Given the description of an element on the screen output the (x, y) to click on. 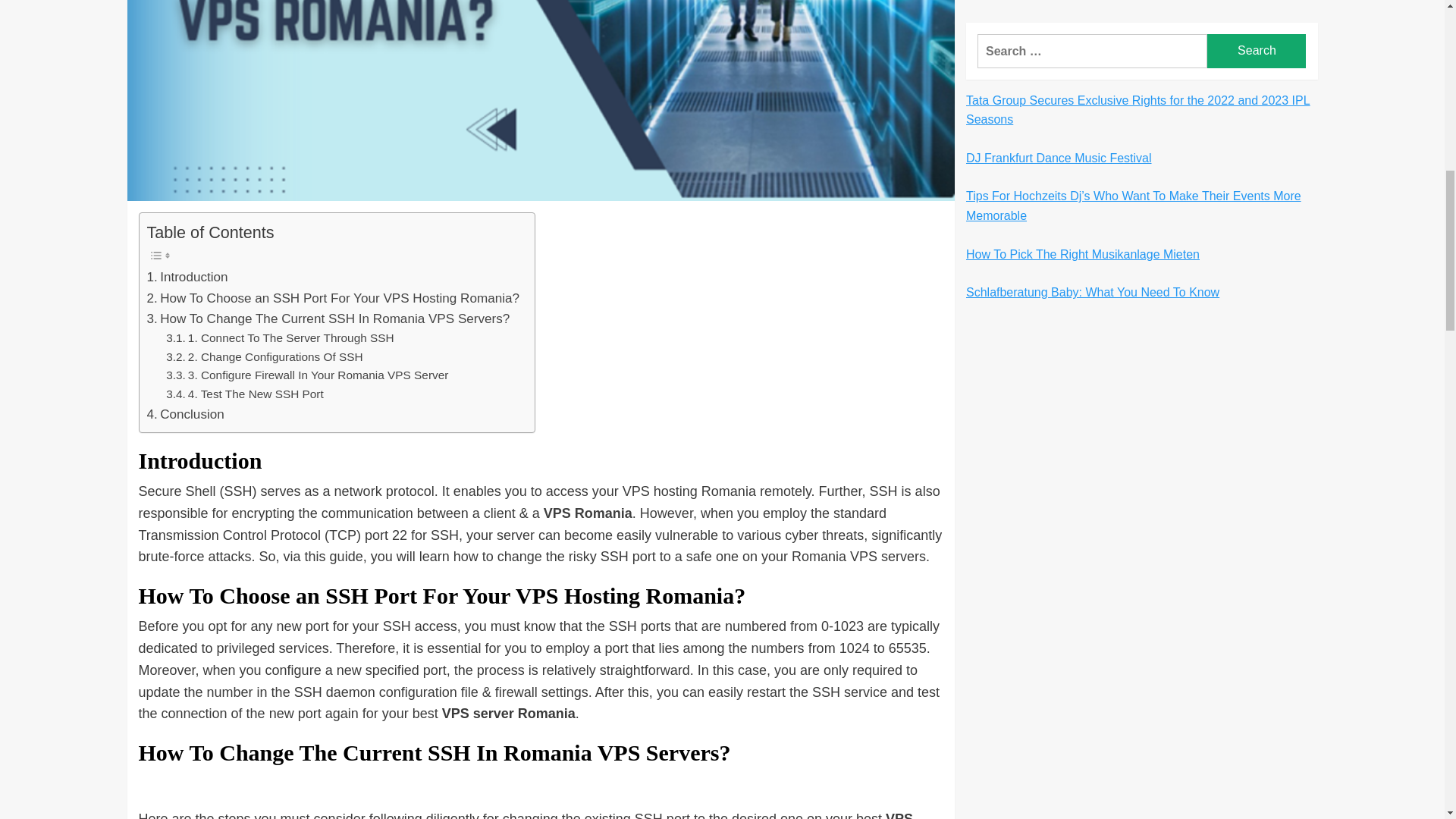
Conclusion (185, 414)
Introduction (187, 276)
3. Configure Firewall In Your Romania VPS Server (306, 375)
Conclusion (185, 414)
2. Change Configurations Of SSH (263, 357)
How To Change The Current SSH In Romania VPS Servers? (329, 318)
2. Change Configurations Of SSH (263, 357)
How To Choose an SSH Port For Your VPS Hosting Romania? (333, 298)
3. Configure Firewall In Your Romania VPS Server (306, 375)
1. Connect To The Server Through SSH (279, 338)
